Given the description of an element on the screen output the (x, y) to click on. 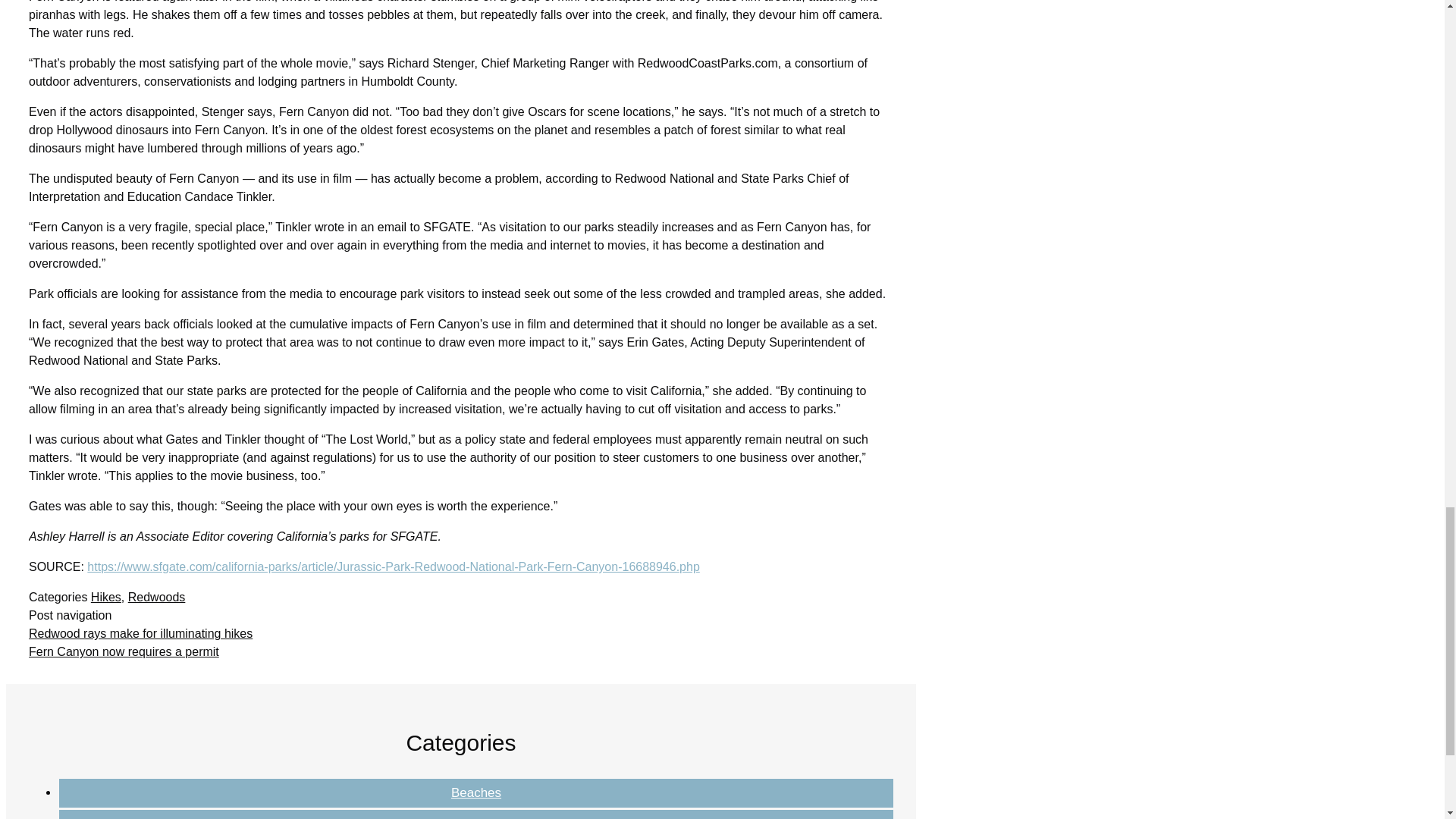
Fern Canyon now requires a permit (397, 716)
Redwood rays make for illuminating hikes (413, 700)
GeneratePress (827, 795)
Hikes (327, 684)
Redwoods (371, 684)
Next (388, 716)
Previous (404, 700)
